Given the description of an element on the screen output the (x, y) to click on. 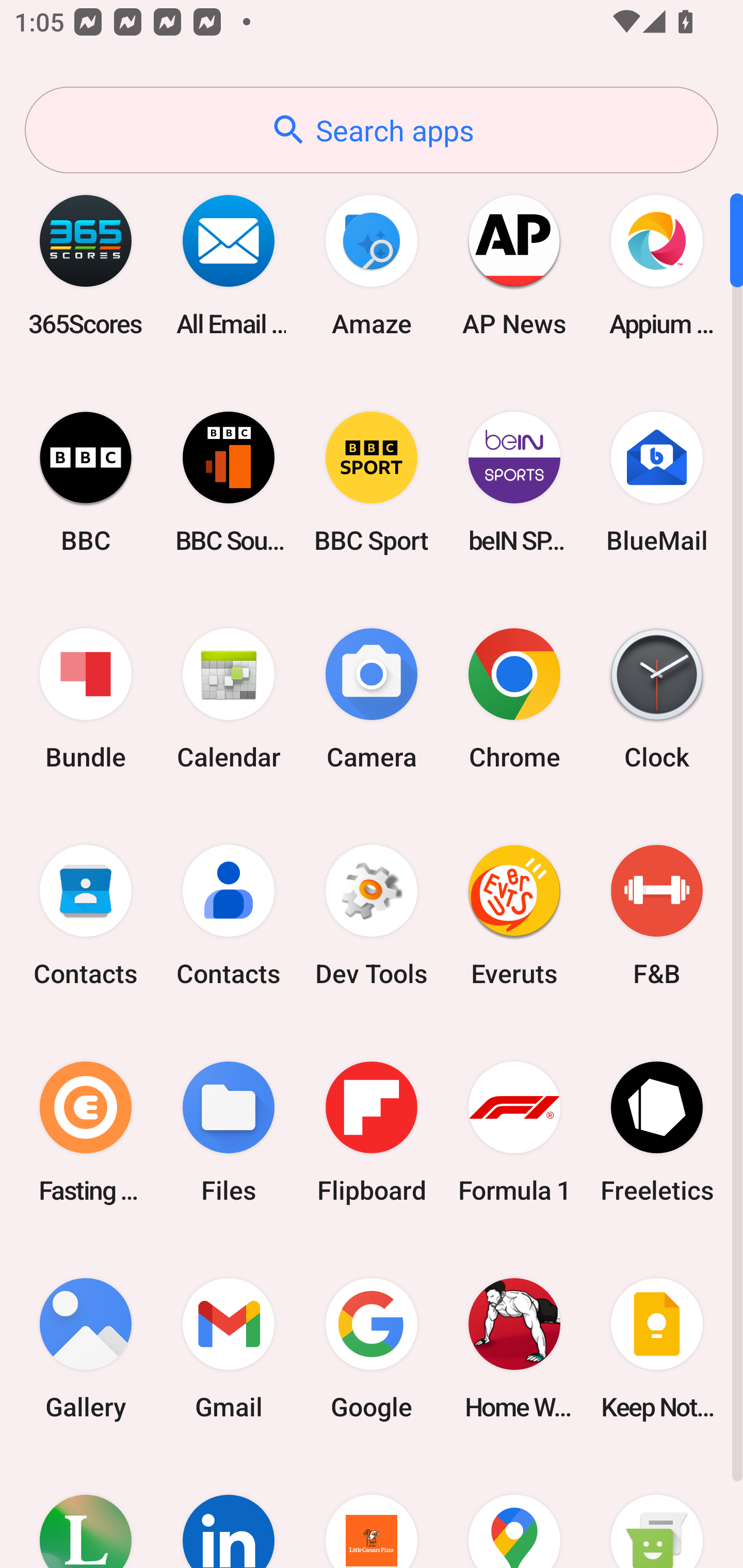
  Search apps (371, 130)
365Scores (85, 264)
All Email Connect (228, 264)
Amaze (371, 264)
AP News (514, 264)
Appium Settings (656, 264)
BBC (85, 482)
BBC Sounds (228, 482)
BBC Sport (371, 482)
beIN SPORTS (514, 482)
BlueMail (656, 482)
Bundle (85, 699)
Calendar (228, 699)
Camera (371, 699)
Chrome (514, 699)
Clock (656, 699)
Contacts (85, 915)
Contacts (228, 915)
Dev Tools (371, 915)
Everuts (514, 915)
F&B (656, 915)
Fasting Coach (85, 1131)
Files (228, 1131)
Flipboard (371, 1131)
Formula 1 (514, 1131)
Freeletics (656, 1131)
Gallery (85, 1348)
Gmail (228, 1348)
Google (371, 1348)
Home Workout (514, 1348)
Keep Notes (656, 1348)
Lifesum (85, 1512)
LinkedIn (228, 1512)
Little Caesars Pizza (371, 1512)
Maps (514, 1512)
Messaging (656, 1512)
